Given the description of an element on the screen output the (x, y) to click on. 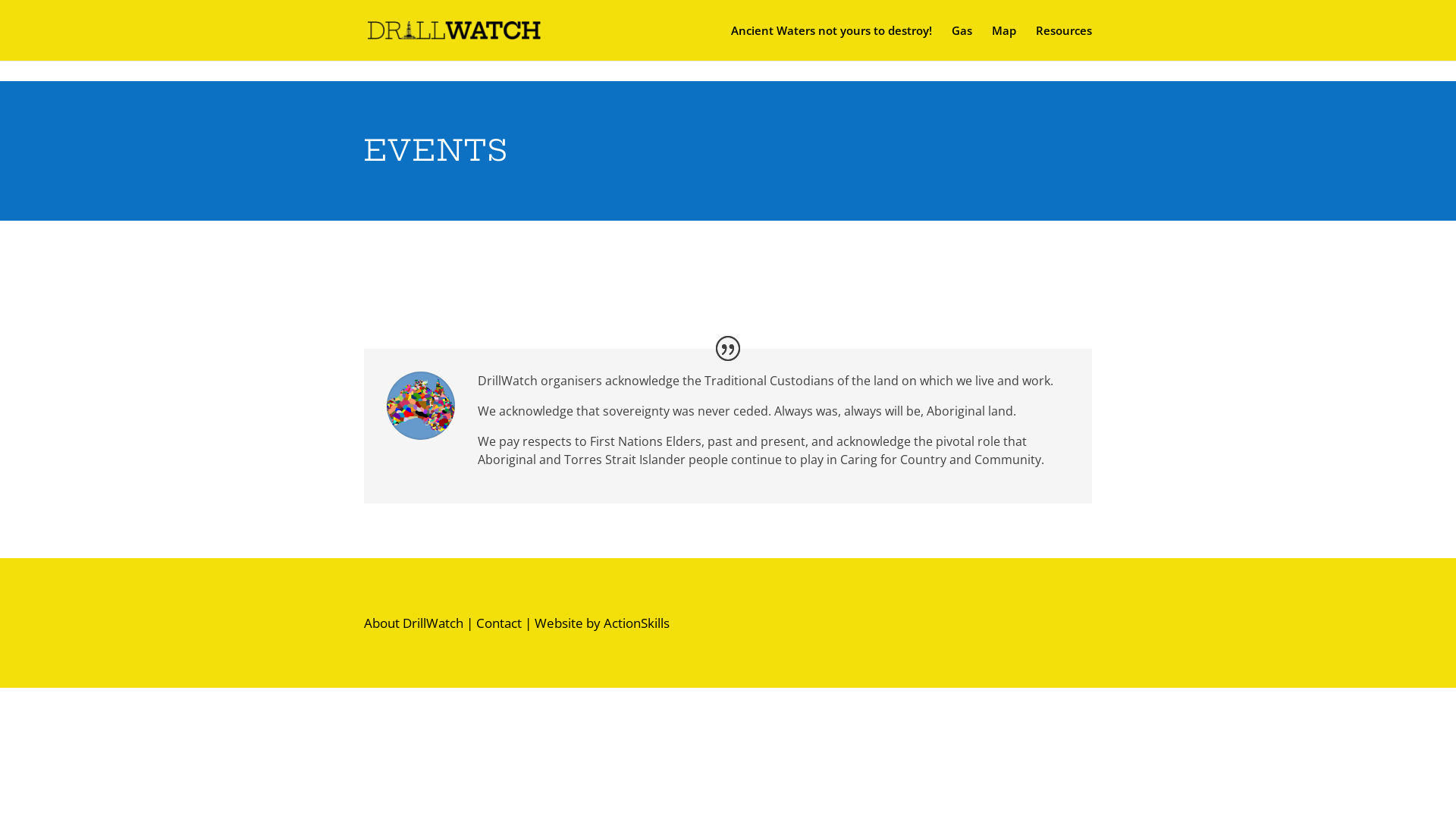
Ancient Waters not yours to destroy! Element type: text (831, 42)
About DrillWatch Element type: text (413, 622)
Resources Element type: text (1063, 42)
Skip to content Element type: text (43, 9)
Website by ActionSkills Element type: text (601, 622)
Gas Element type: text (961, 42)
Contact Element type: text (498, 622)
Map Element type: text (1003, 42)
